Given the description of an element on the screen output the (x, y) to click on. 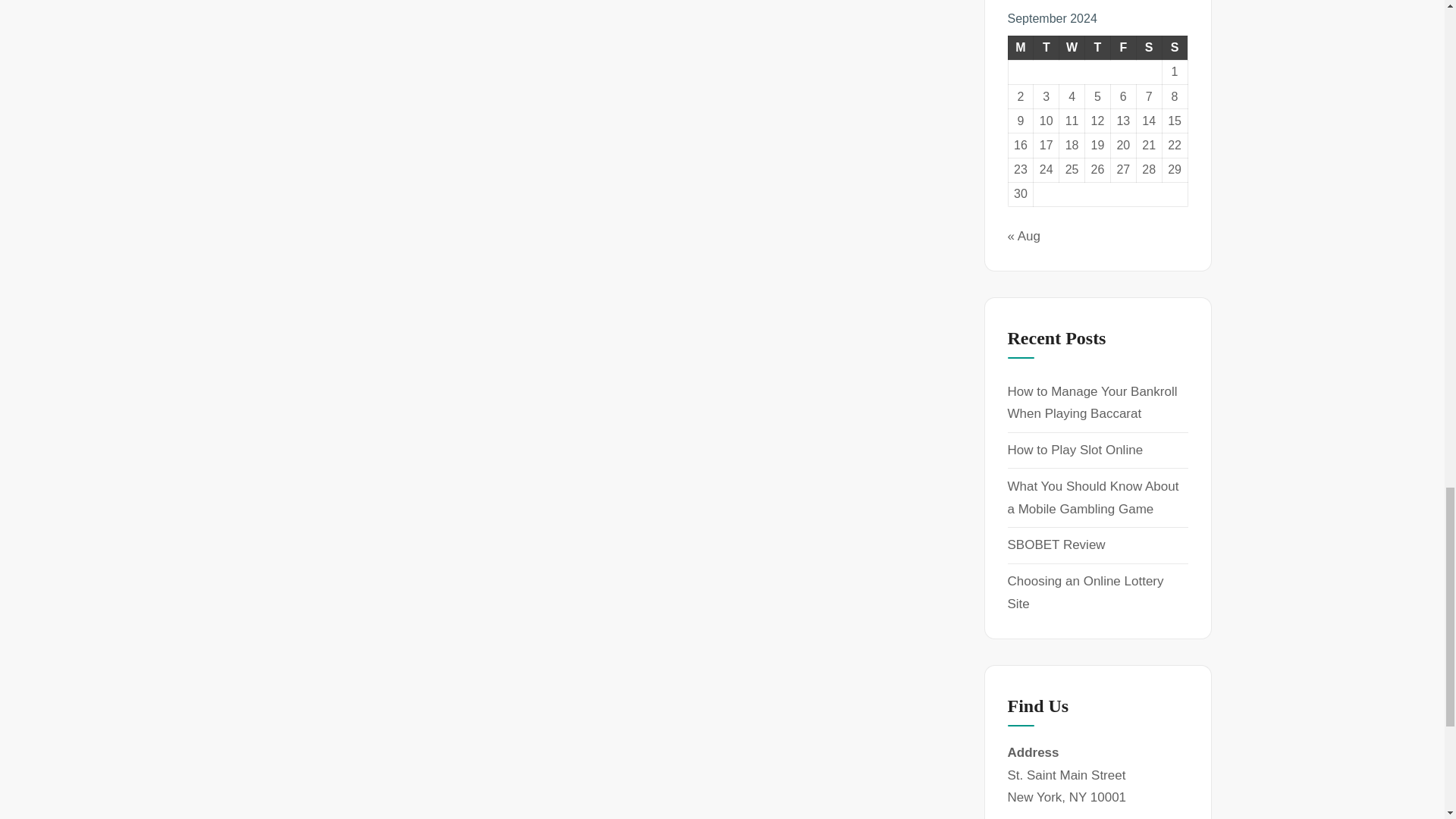
Wednesday (1071, 47)
Tuesday (1046, 47)
Thursday (1097, 47)
Monday (1020, 47)
Saturday (1148, 47)
Friday (1122, 47)
Sunday (1174, 47)
